Given the description of an element on the screen output the (x, y) to click on. 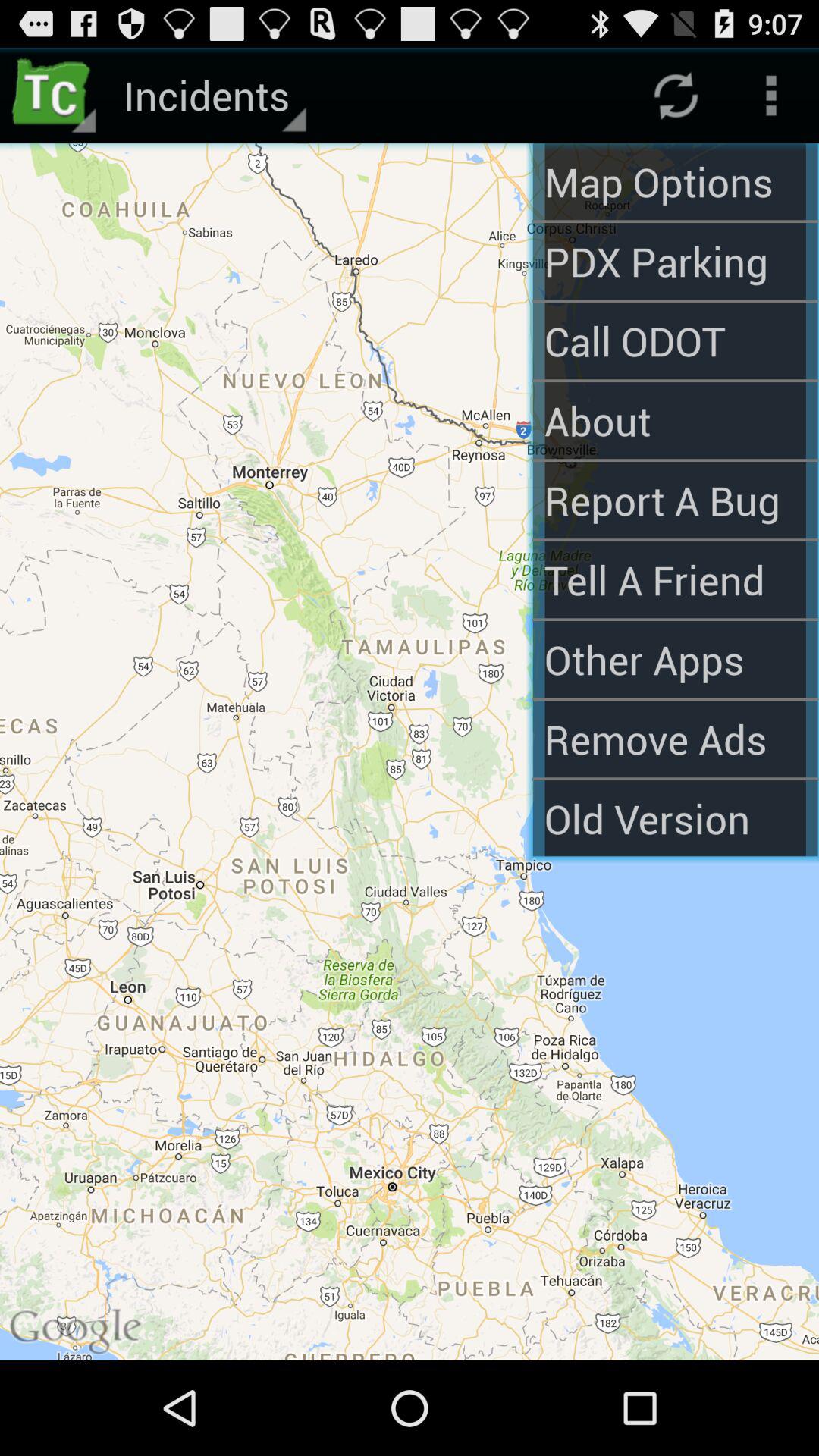
choose the report a bug icon (675, 499)
